Given the description of an element on the screen output the (x, y) to click on. 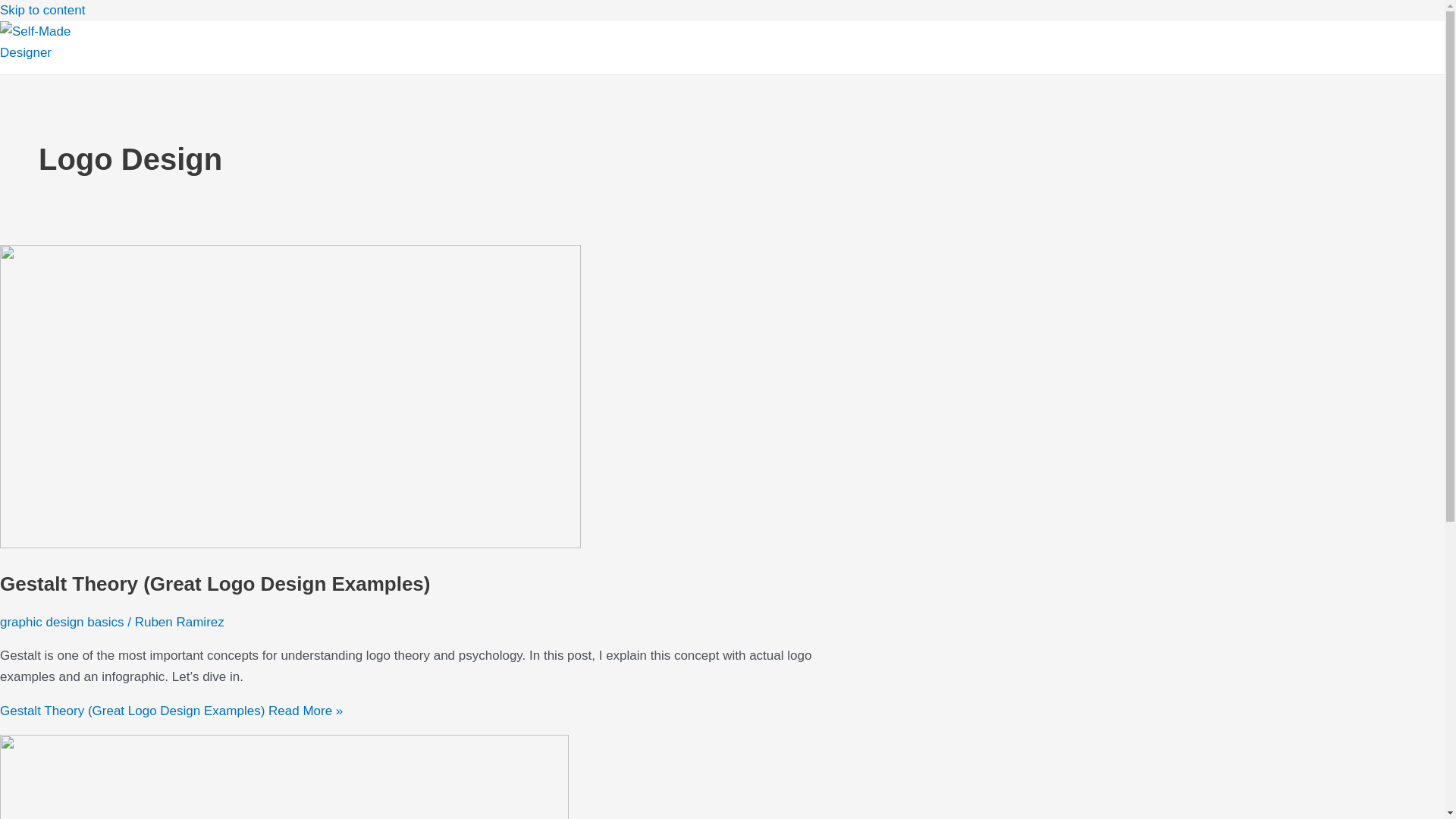
View all posts by Ruben Ramirez (179, 622)
Skip to content (42, 10)
graphic design basics (61, 622)
Ruben Ramirez (179, 622)
Skip to content (42, 10)
